Given the description of an element on the screen output the (x, y) to click on. 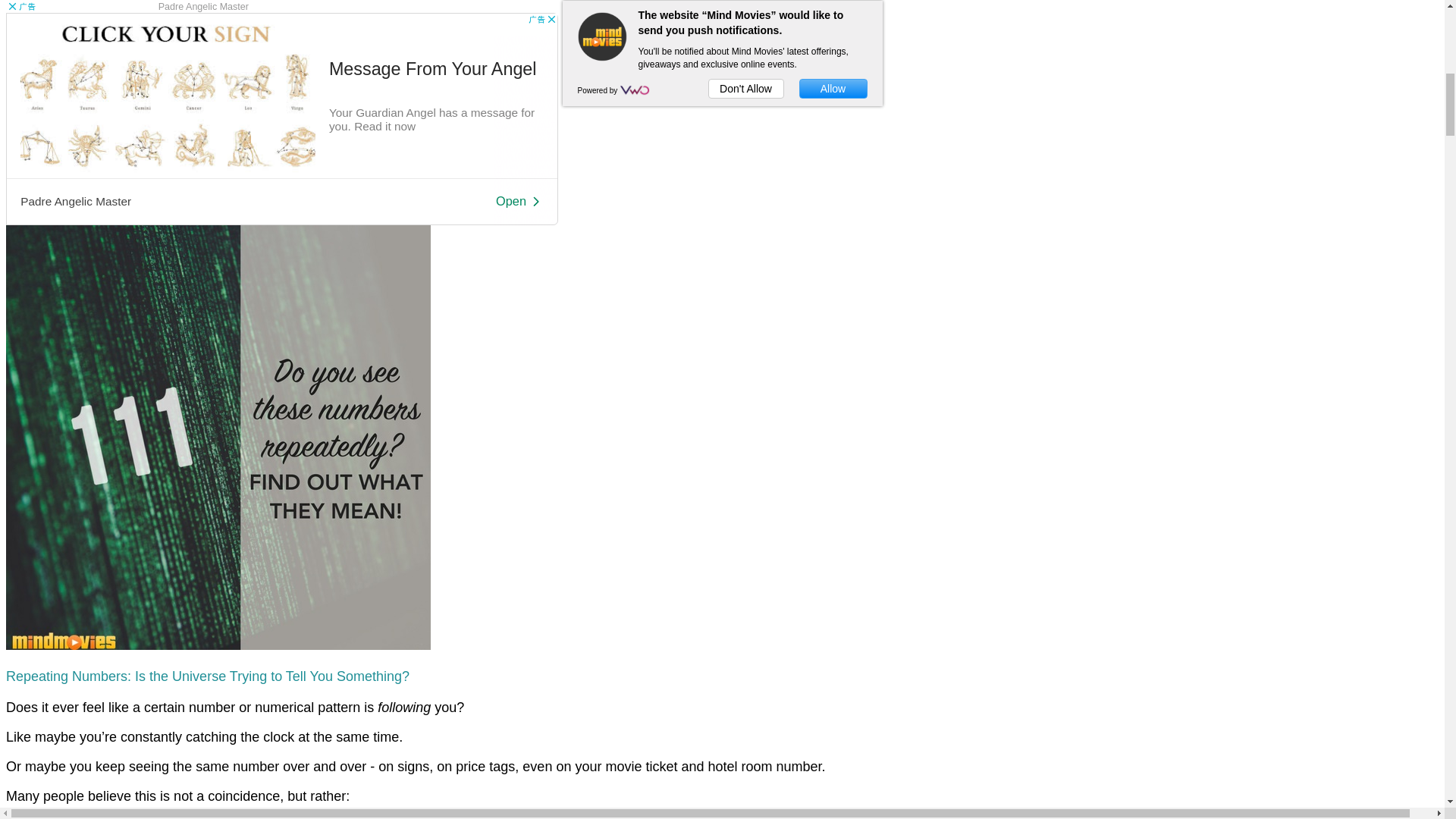
Advertisement (126, 6)
Advertisement (281, 118)
